Given the description of an element on the screen output the (x, y) to click on. 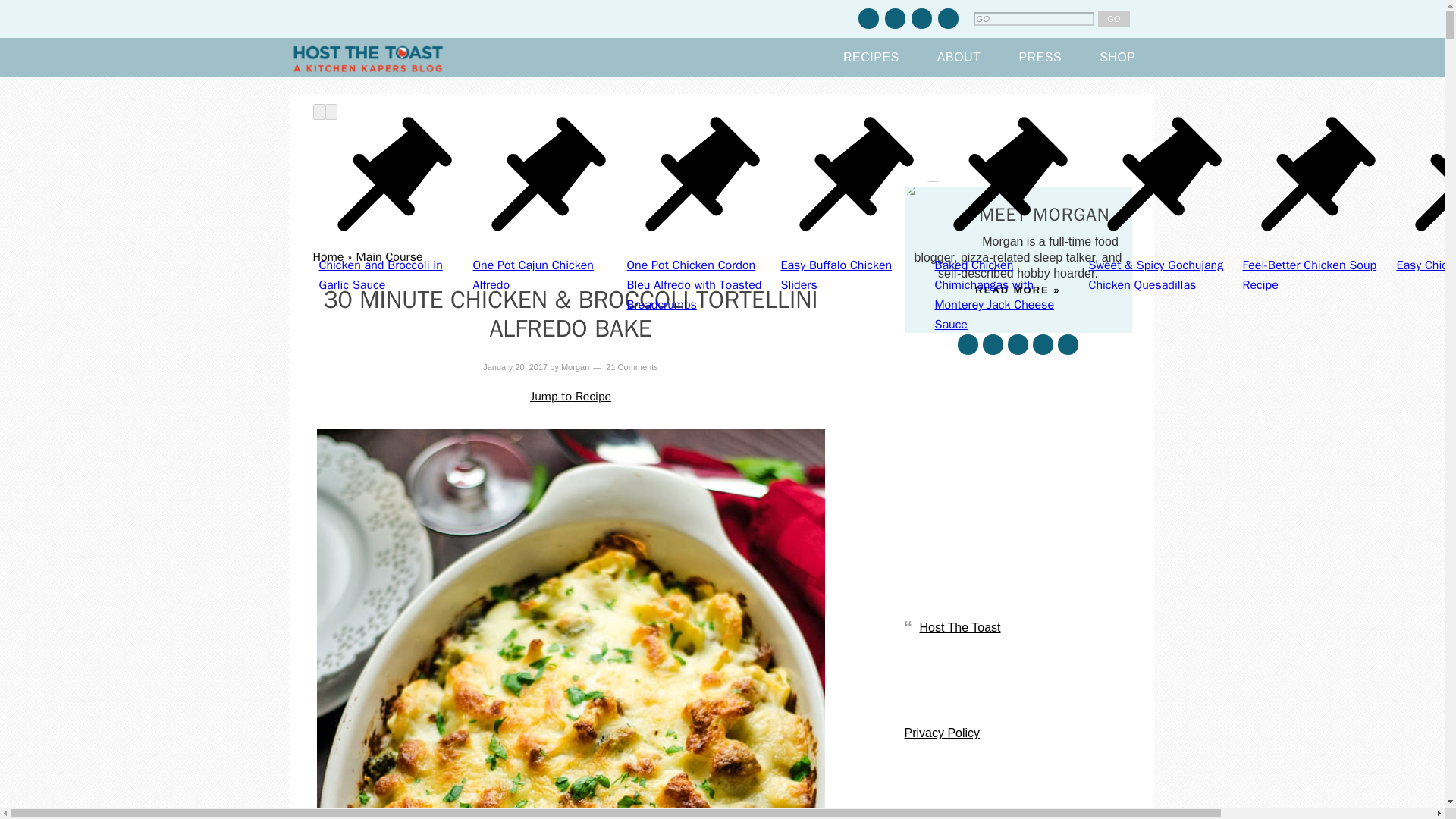
PRESS (1039, 56)
Morgan (574, 366)
GO (1113, 18)
Home (328, 256)
Jump to Recipe (570, 396)
Jump to Recipe (570, 396)
GO (1034, 18)
Main Course (388, 256)
GO (1113, 18)
21 Comments (631, 366)
HOST THE TOAST (402, 56)
RECIPES (871, 56)
ABOUT (959, 56)
SHOP (1117, 56)
